Given the description of an element on the screen output the (x, y) to click on. 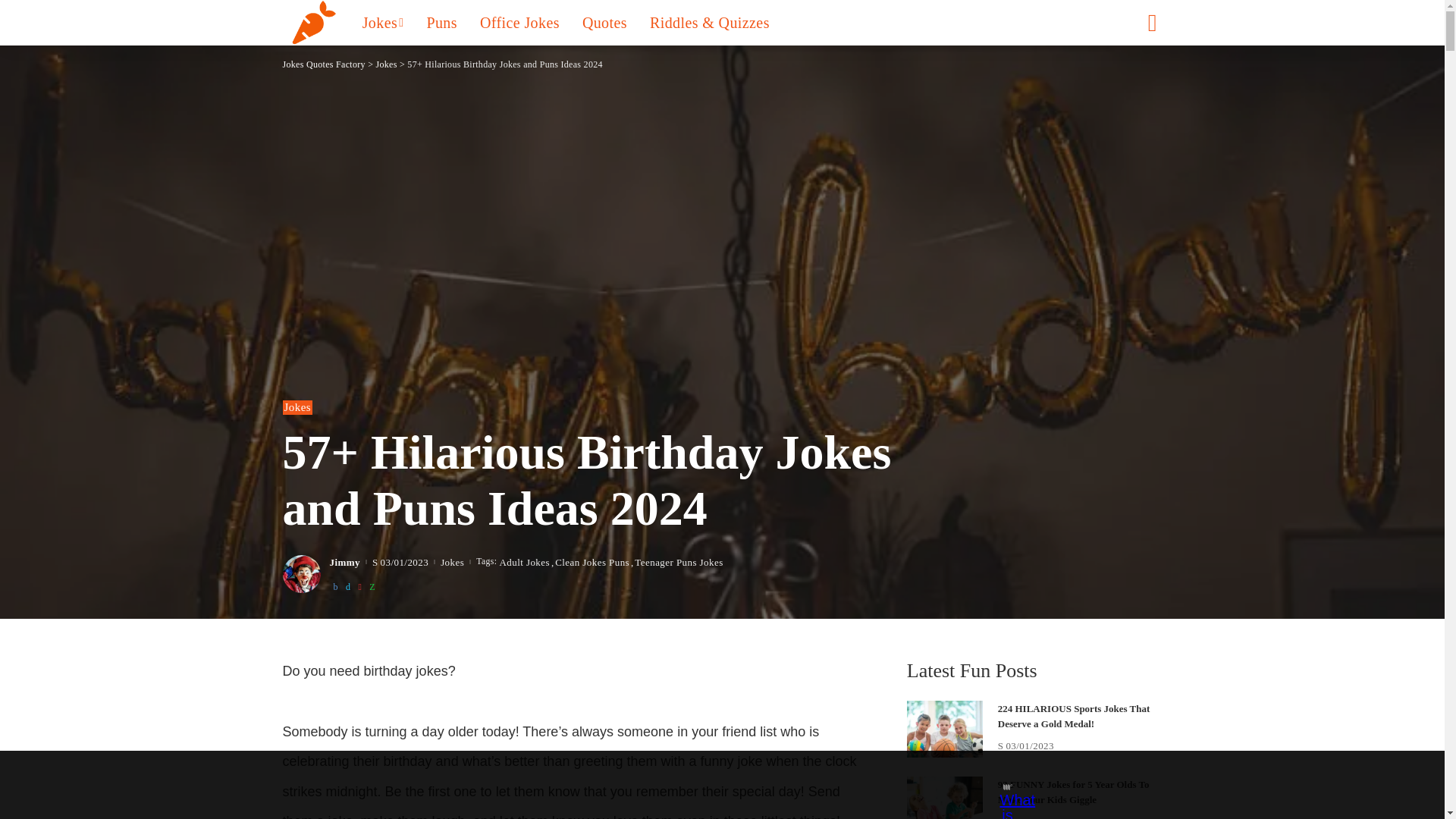
Jokes (382, 22)
Jokes Quotes Factory (310, 22)
